Given the description of an element on the screen output the (x, y) to click on. 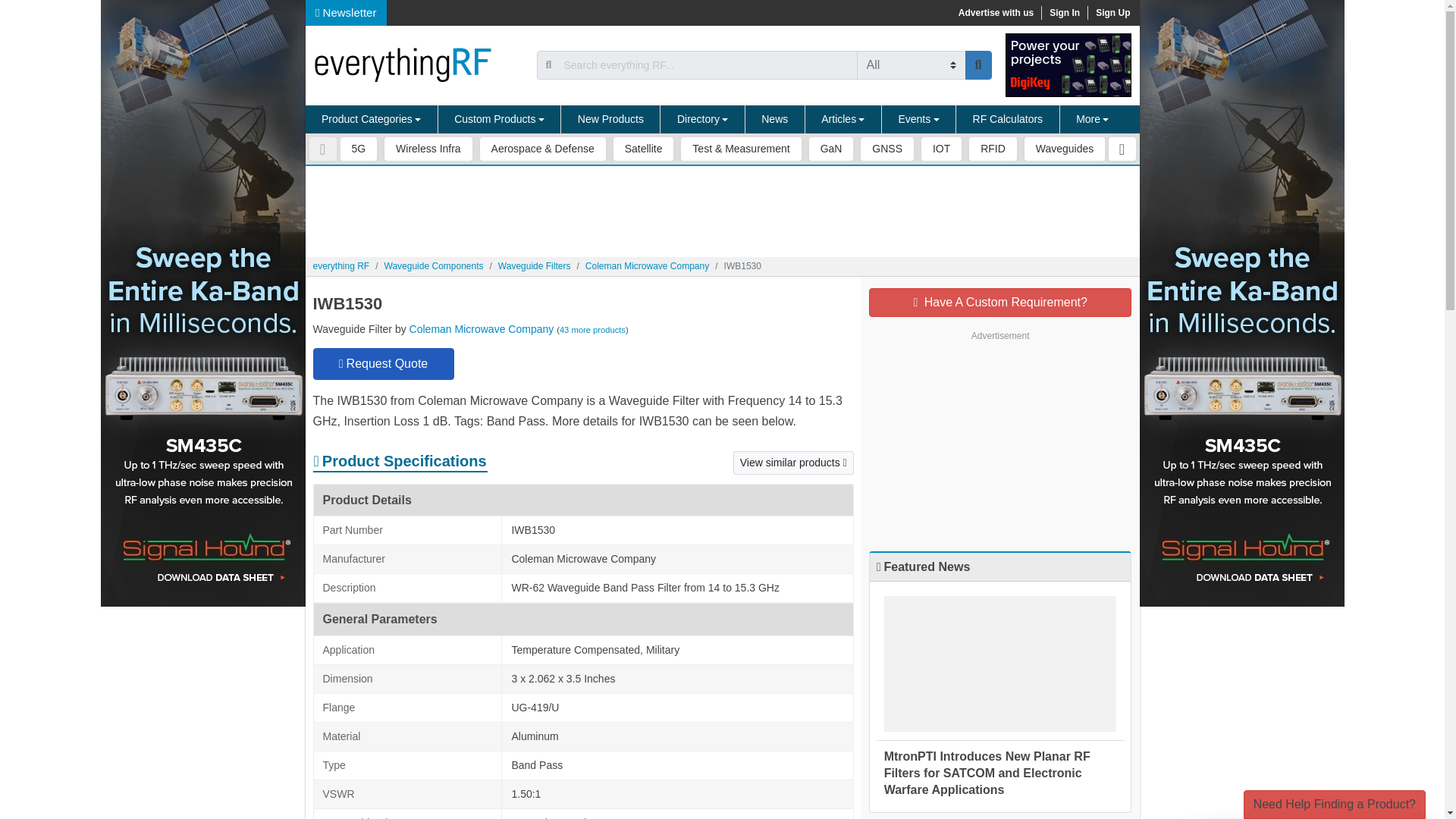
Sign In (1064, 12)
Newsletter (345, 12)
Sign Up (1112, 12)
Advertise with us (995, 12)
Product Categories (371, 119)
